Given the description of an element on the screen output the (x, y) to click on. 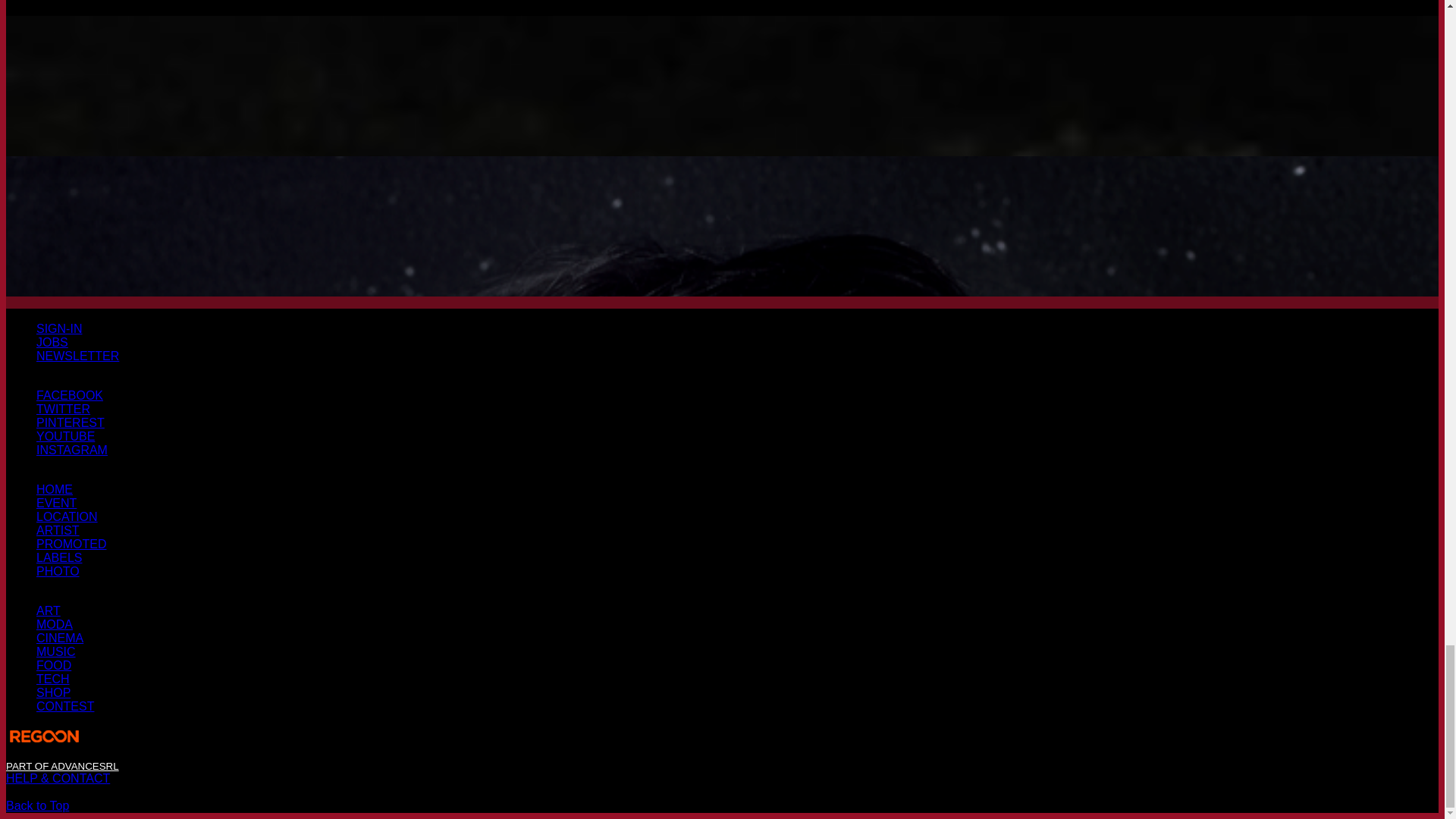
JOBS (52, 341)
Newsletter (77, 355)
